Given the description of an element on the screen output the (x, y) to click on. 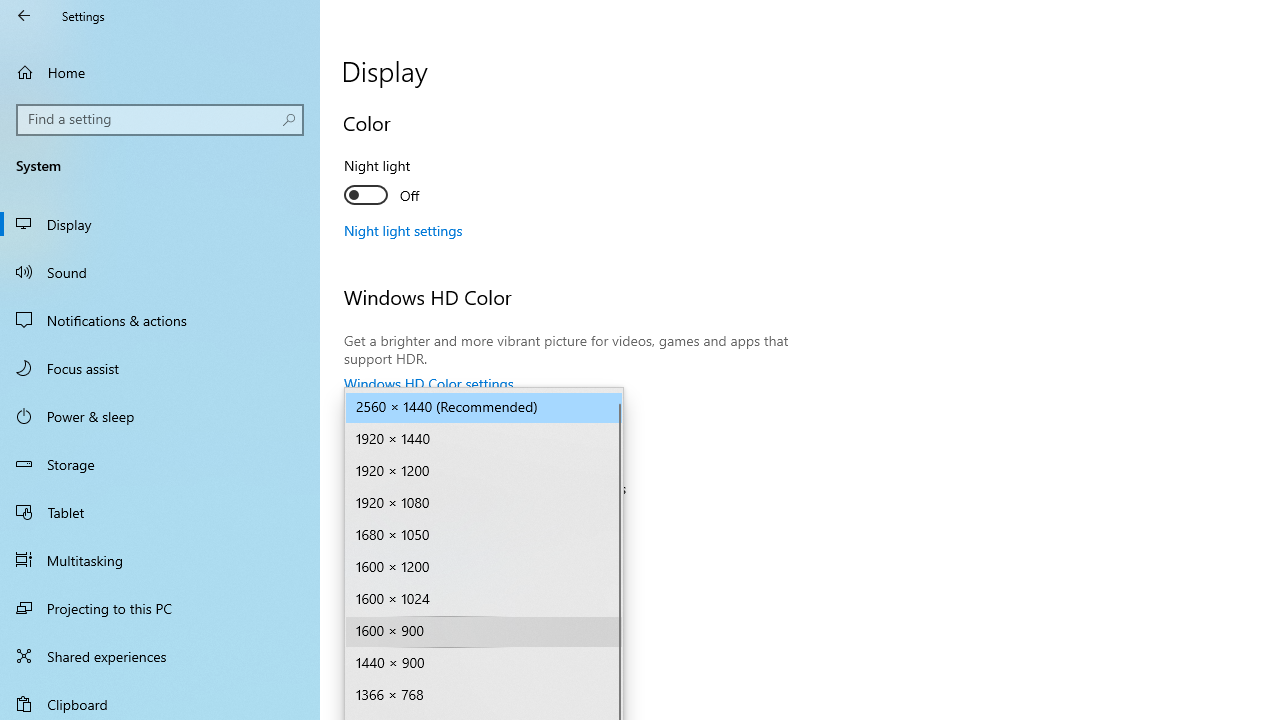
Advanced scaling settings (424, 559)
Display (160, 223)
100% (Recommended) (473, 521)
Projecting to this PC (160, 607)
Focus assist (160, 367)
Display orientation (484, 702)
Home (160, 71)
Multitasking (160, 559)
Windows HD Color settings (429, 383)
Landscape (473, 702)
